Given the description of an element on the screen output the (x, y) to click on. 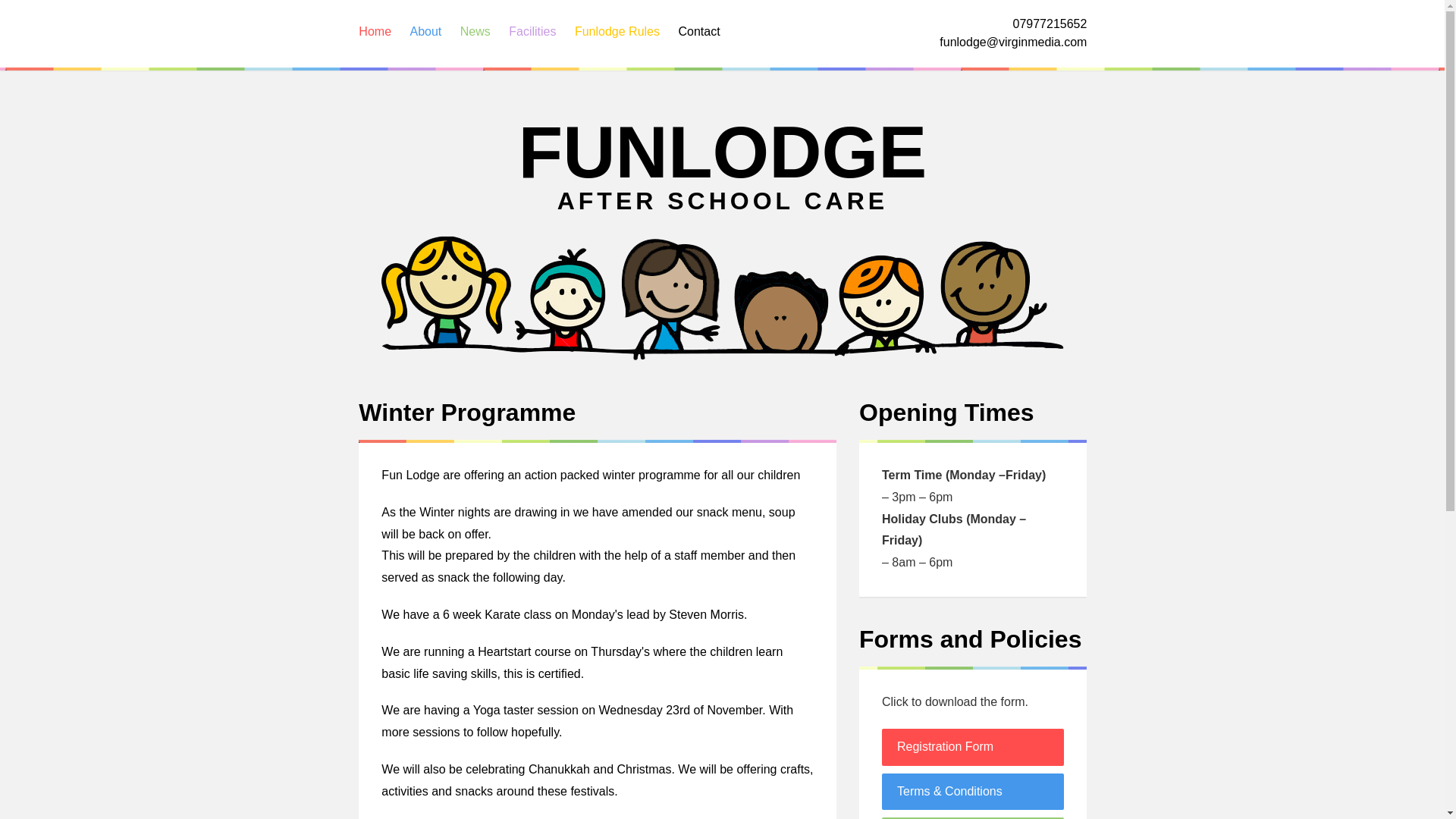
Contact (698, 31)
About (425, 31)
Home (374, 31)
Winter Programme (596, 411)
News (475, 31)
Facilities (532, 31)
Registration Form (973, 746)
Funlodge Rules (617, 31)
